Given the description of an element on the screen output the (x, y) to click on. 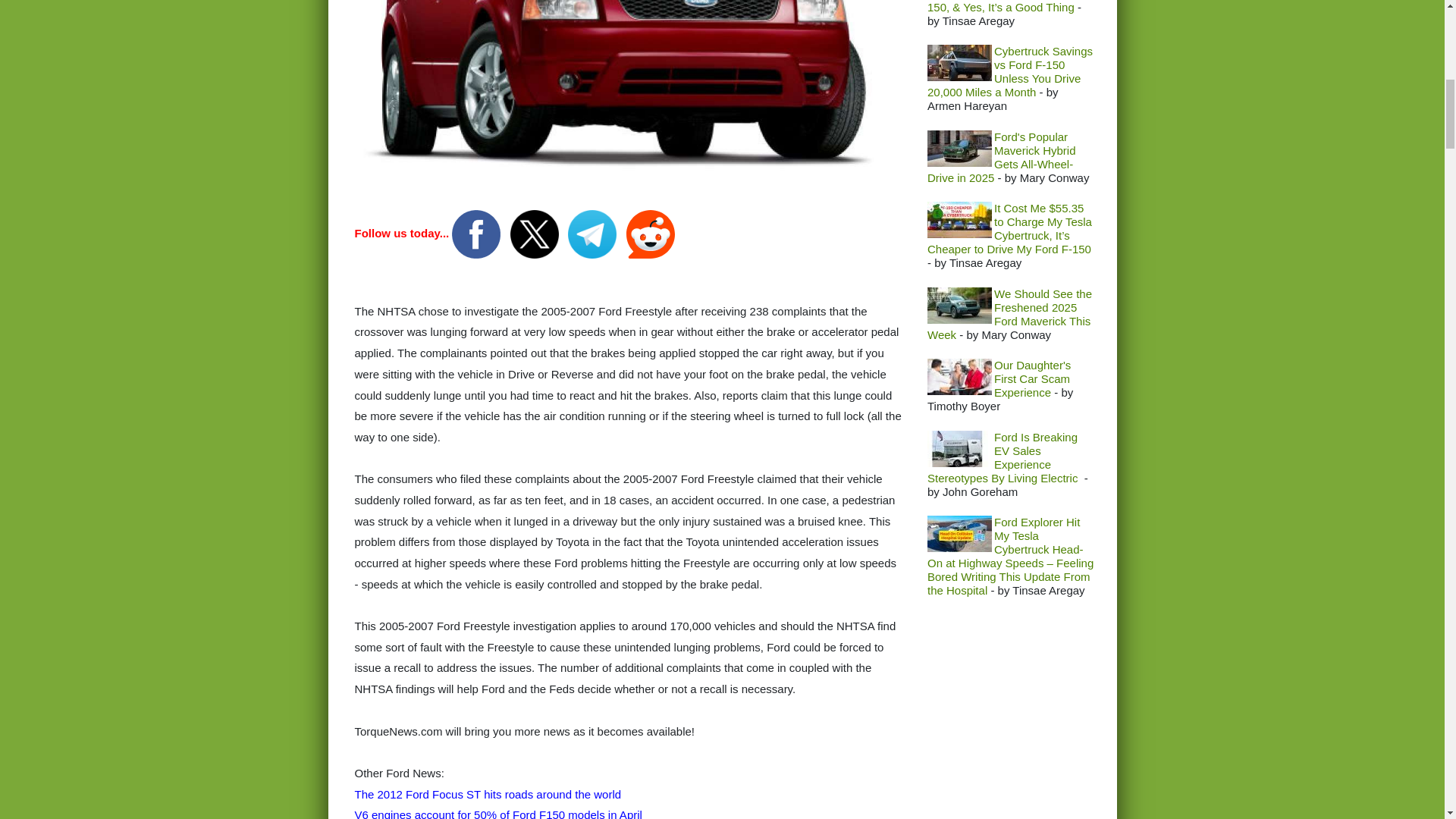
Join us on Telegram! (593, 232)
The 2012 Ford Focus ST hits roads around the world (488, 793)
Join us on Reddit! (650, 232)
